Given the description of an element on the screen output the (x, y) to click on. 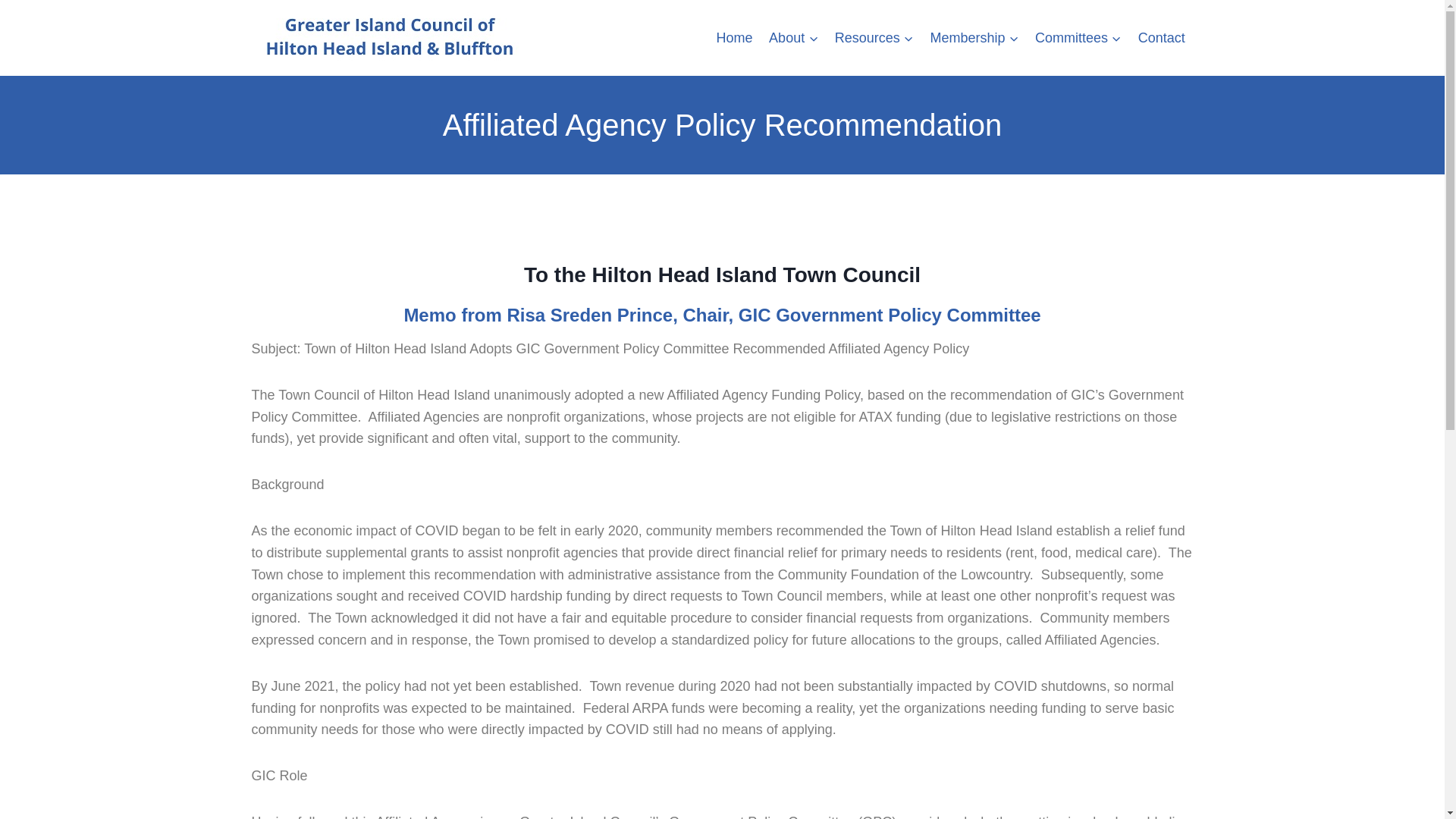
Contact (1161, 37)
Membership (974, 37)
Committees (1077, 37)
Home (734, 37)
Resources (874, 37)
About (793, 37)
